Given the description of an element on the screen output the (x, y) to click on. 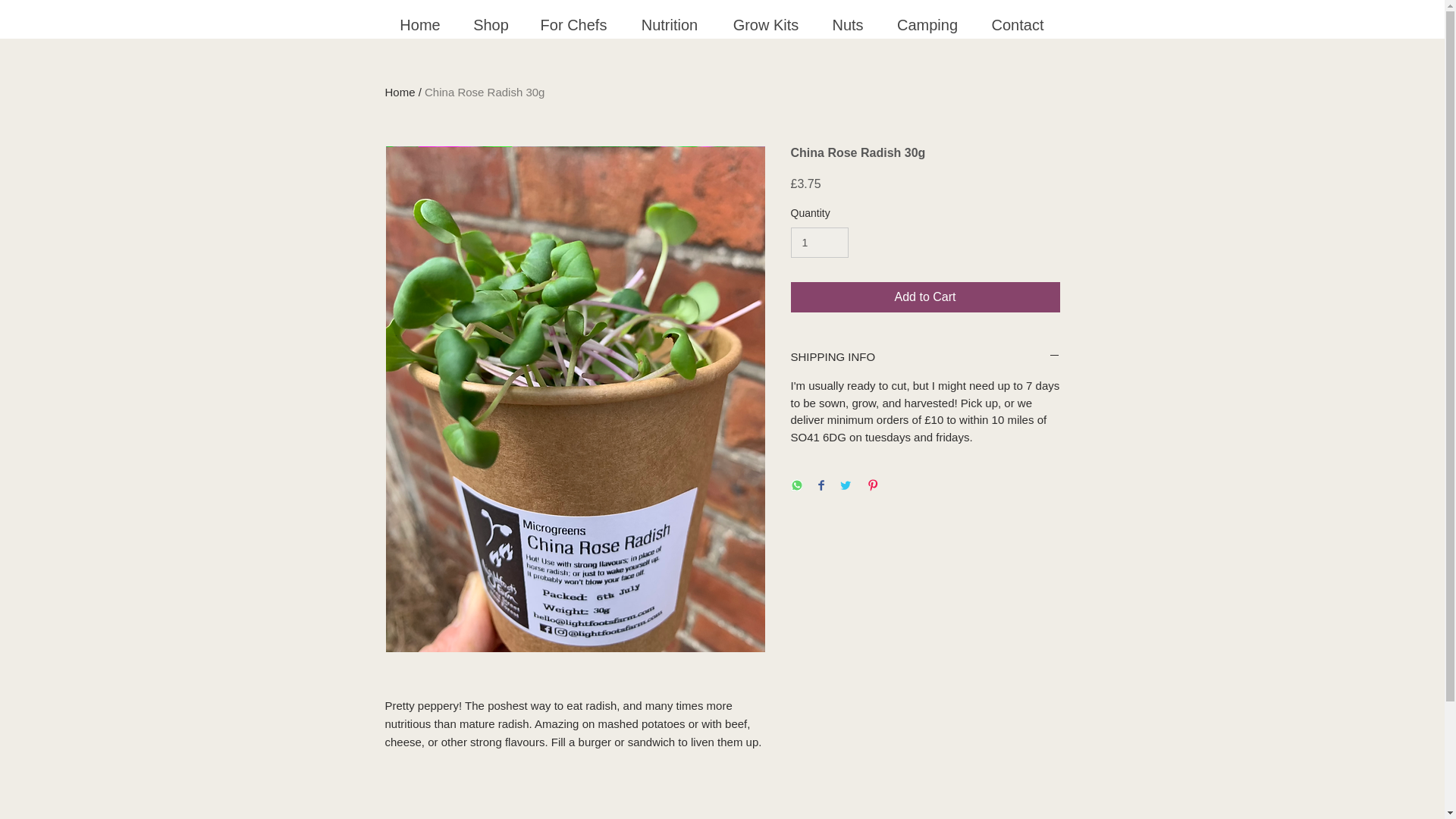
Home (420, 24)
Home (399, 91)
Nuts (846, 24)
For Chefs (573, 24)
Camping (926, 24)
SHIPPING INFO (924, 356)
Nutrition (668, 24)
1 (818, 242)
Contact (1016, 24)
Add to Cart (924, 296)
